Given the description of an element on the screen output the (x, y) to click on. 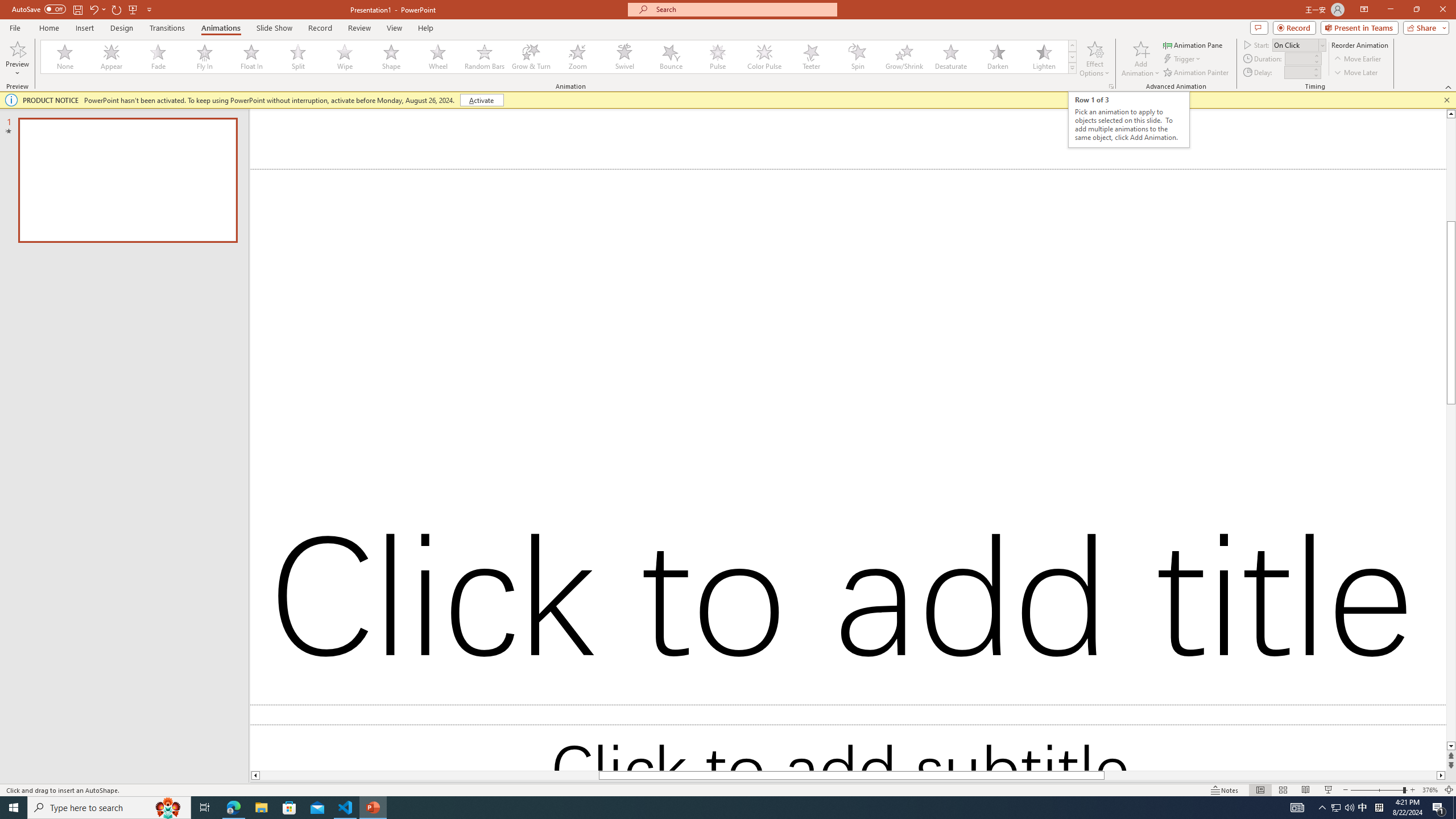
Animation Painter (1196, 72)
Wipe (344, 56)
Darken (997, 56)
None (65, 56)
